Given the description of an element on the screen output the (x, y) to click on. 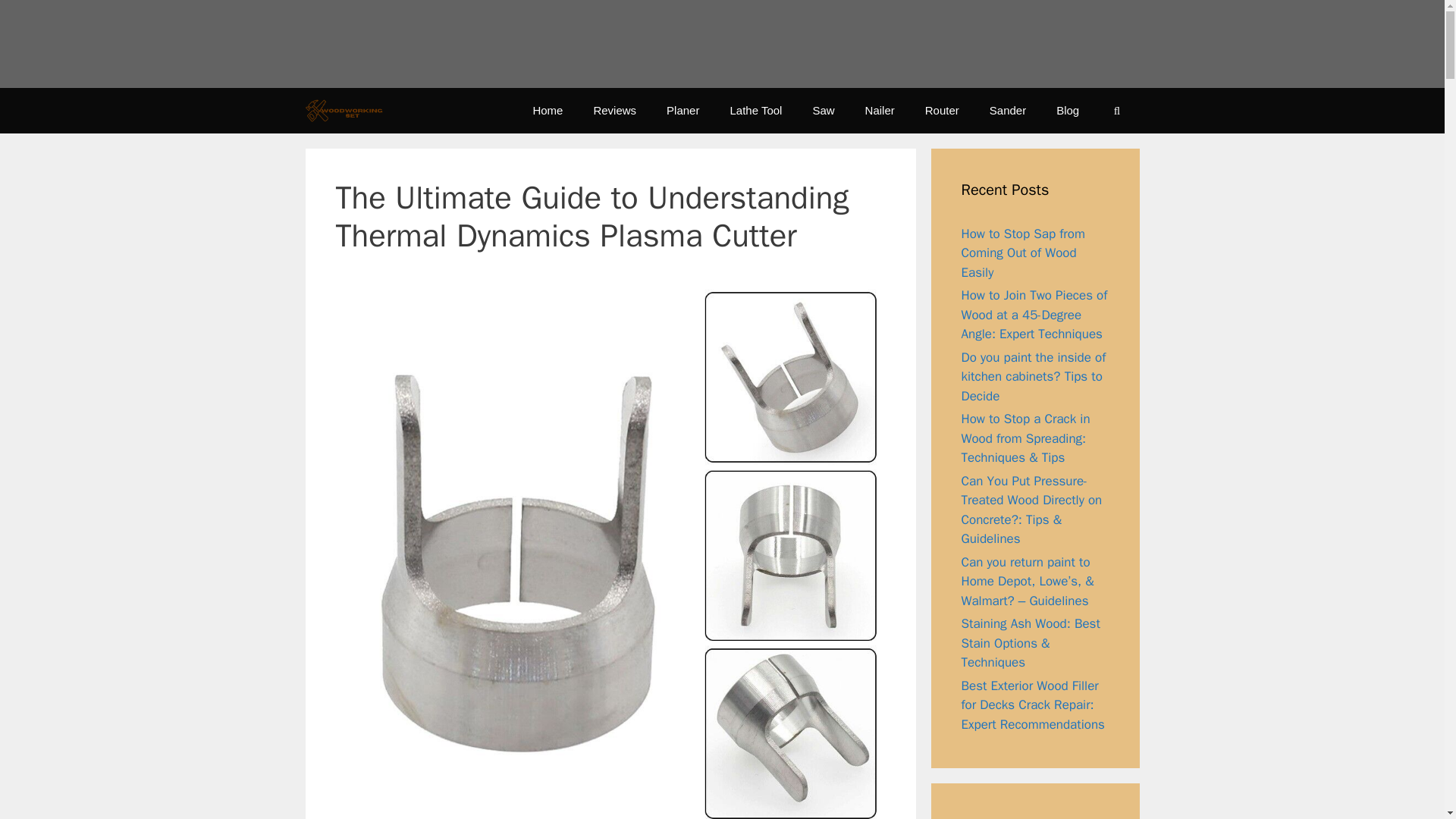
Blog (1067, 110)
Sander (1007, 110)
Home (547, 110)
Planer (682, 110)
Best Wood Working Resource Blog (343, 109)
Lathe Tool (755, 110)
Saw (822, 110)
Best Wood Working Resource Blog (347, 109)
Nailer (880, 110)
Router (942, 110)
